Given the description of an element on the screen output the (x, y) to click on. 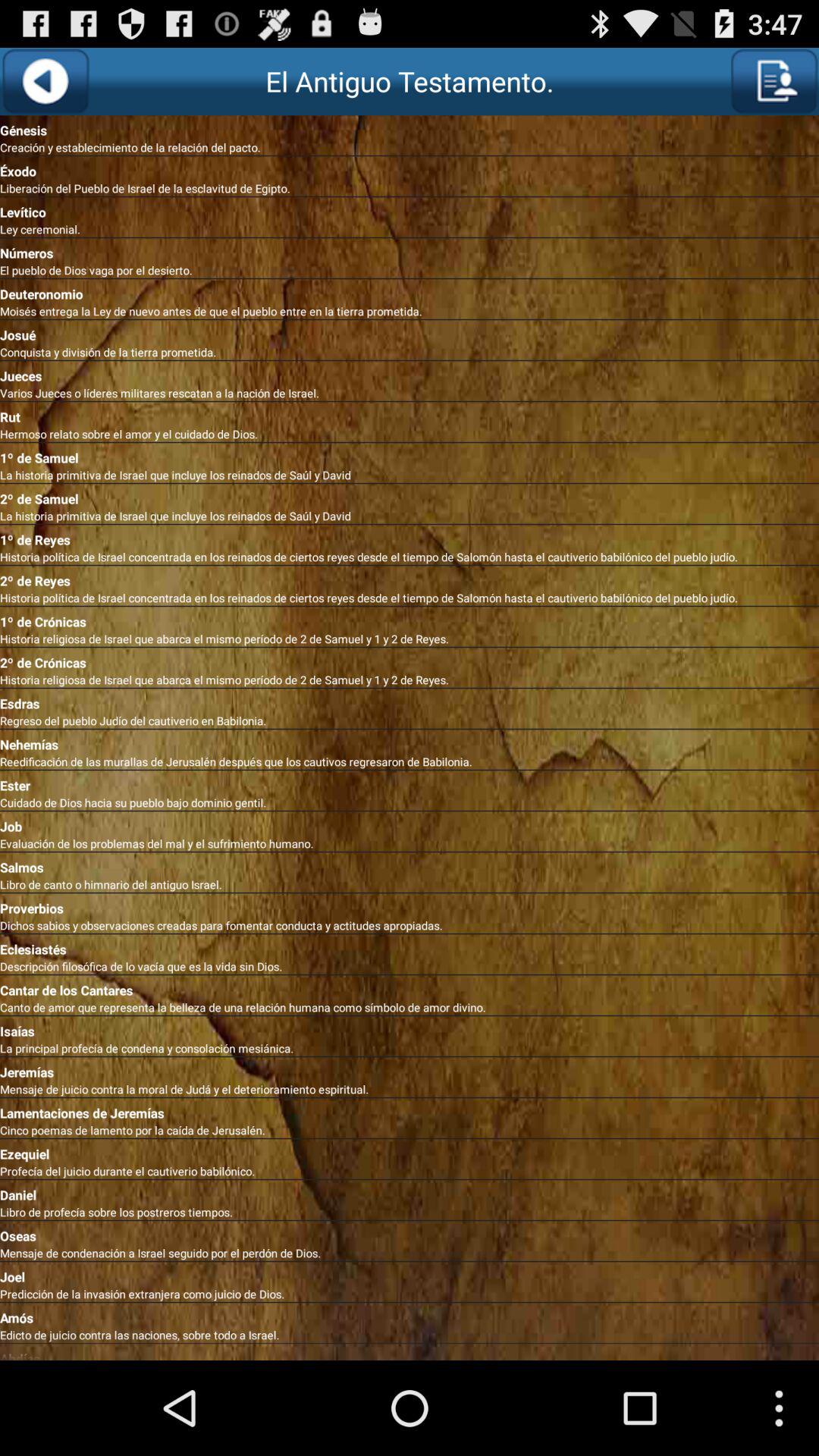
launch the icon below cuidado de dios app (409, 823)
